Given the description of an element on the screen output the (x, y) to click on. 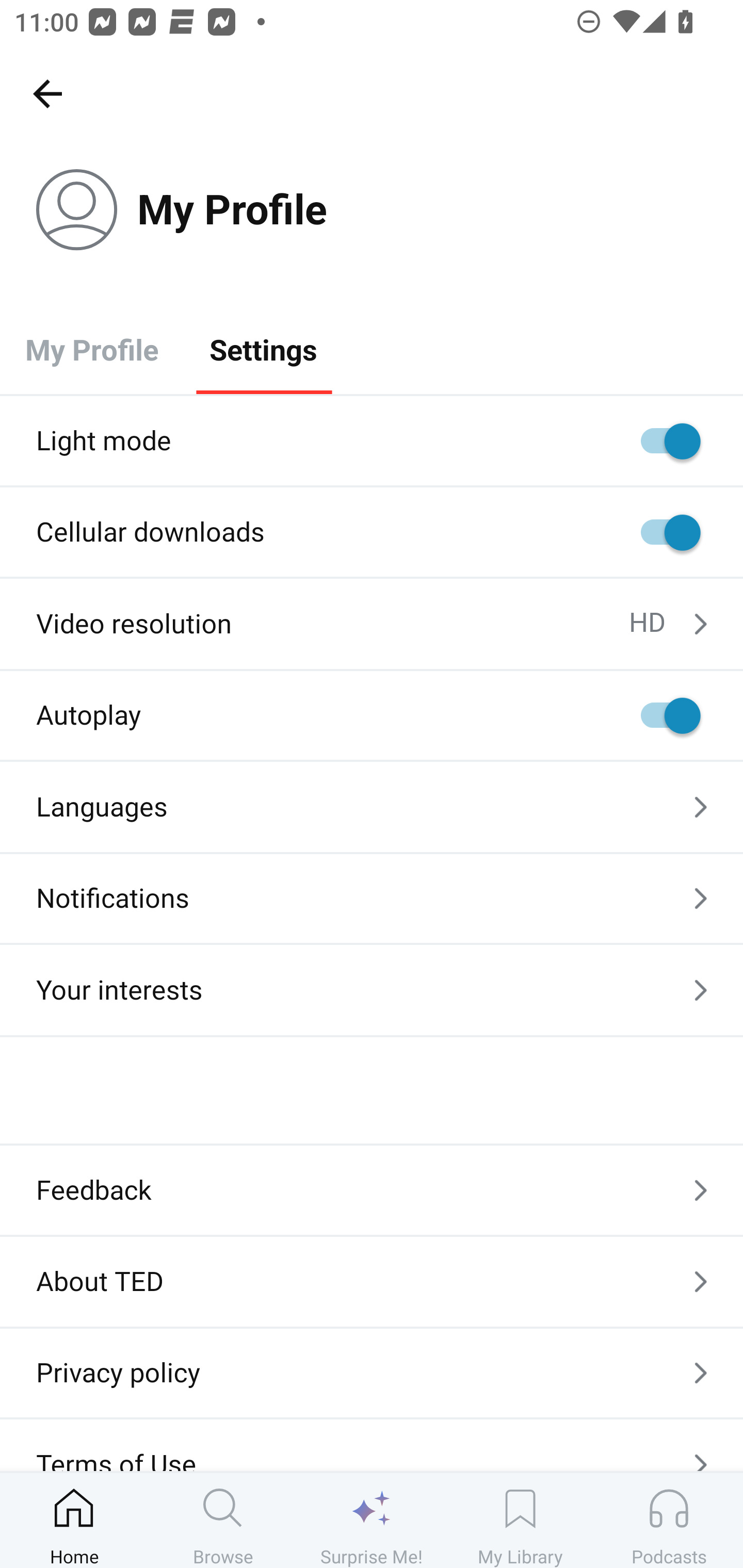
Home, back (47, 92)
My Profile (92, 348)
Settings (263, 348)
Video resolution HD (371, 623)
Languages (371, 806)
Notifications (371, 897)
Your interests (371, 989)
Feedback (371, 1190)
About TED (371, 1281)
Privacy policy (371, 1372)
Home (74, 1520)
Browse (222, 1520)
Surprise Me! (371, 1520)
My Library (519, 1520)
Podcasts (668, 1520)
